Given the description of an element on the screen output the (x, y) to click on. 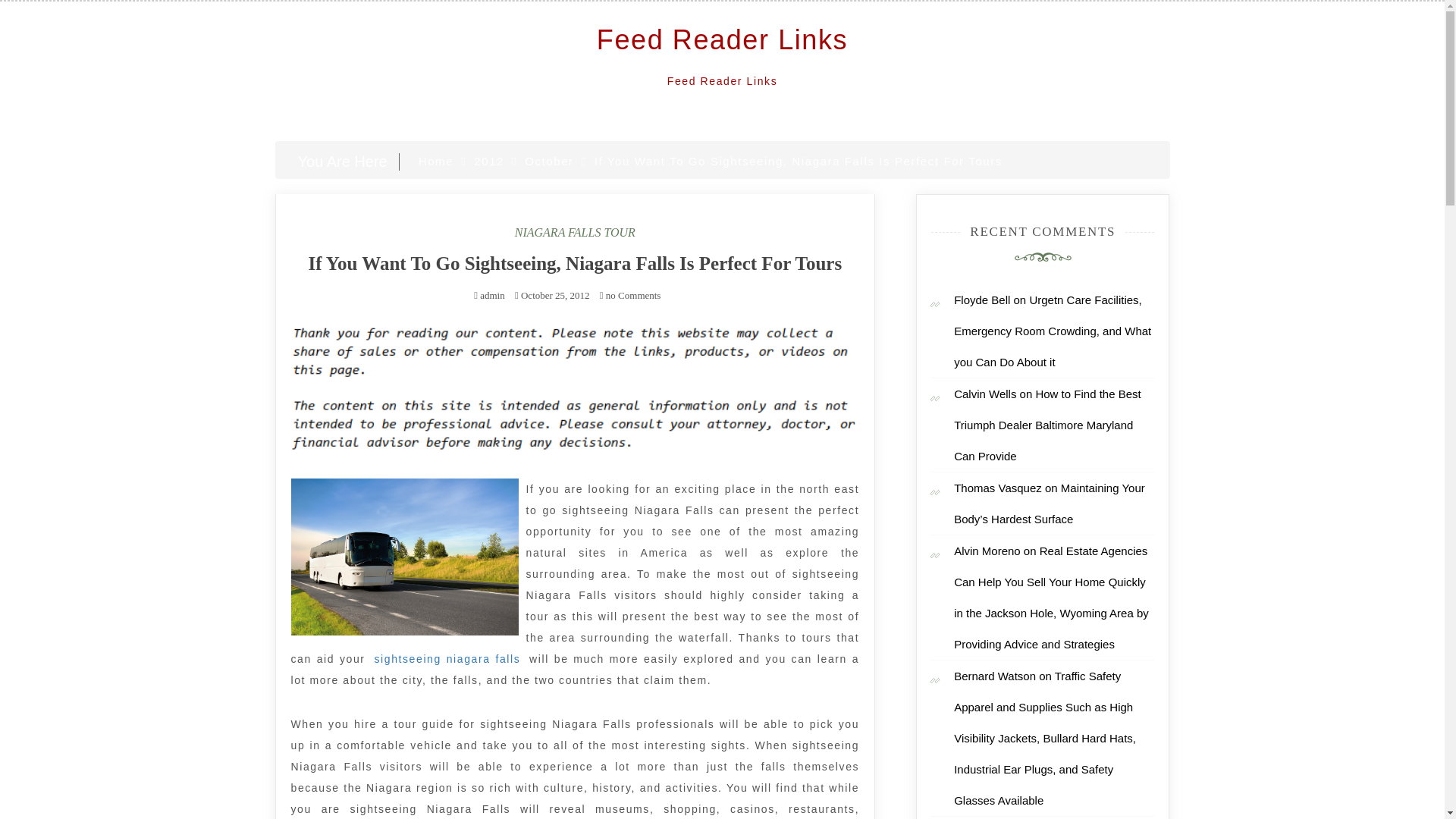
Home (435, 160)
no Comments (630, 295)
sightseeing niagara falls (446, 659)
Posts by admin (492, 295)
admin (492, 295)
NIAGARA FALLS TOUR (574, 232)
October (548, 160)
Sightseeing niagara falls (446, 659)
Alvin Moreno (986, 550)
Thomas Vasquez (997, 487)
Feed Reader Links (721, 39)
